Given the description of an element on the screen output the (x, y) to click on. 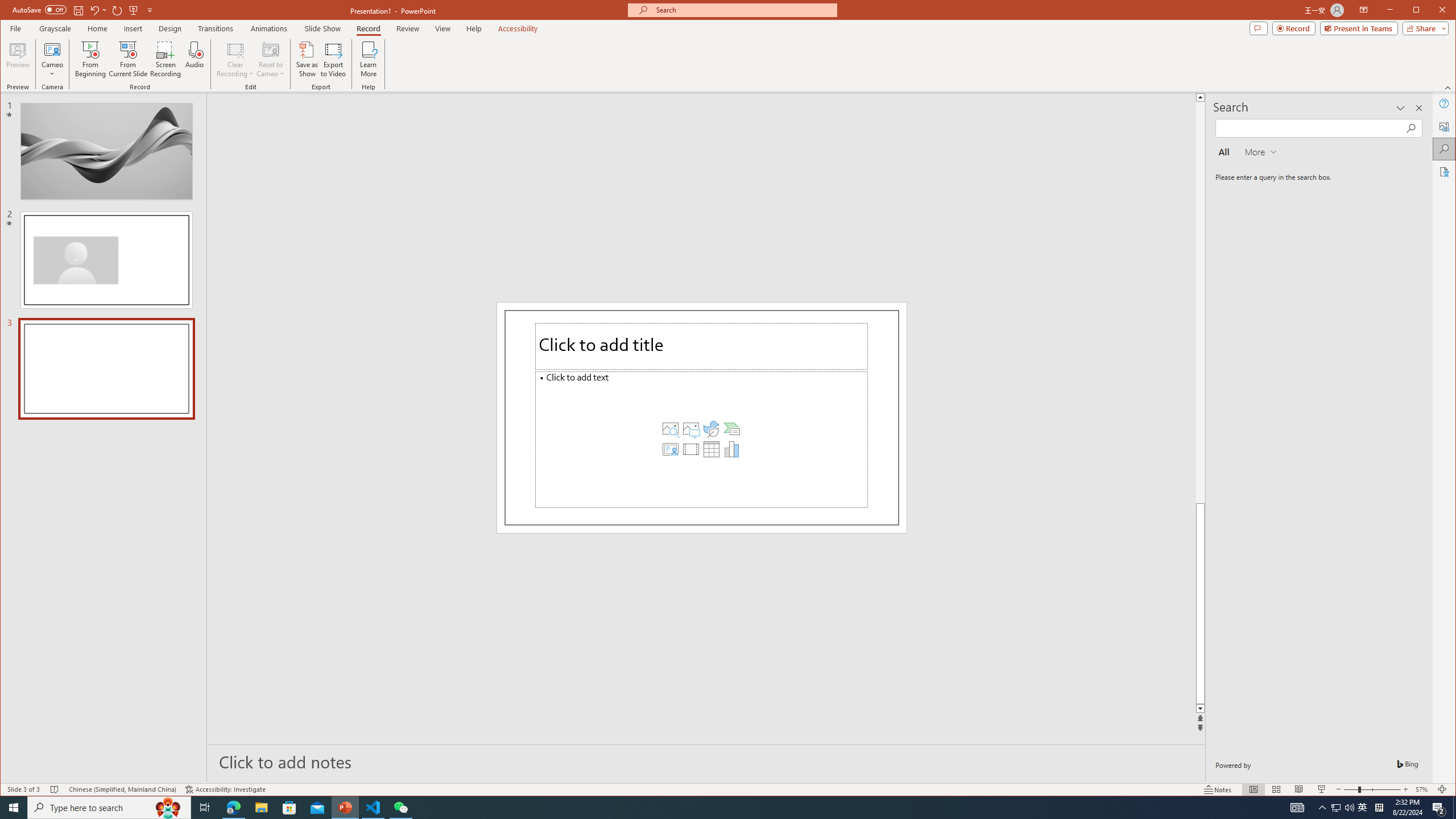
Insert Video (690, 449)
